Given the description of an element on the screen output the (x, y) to click on. 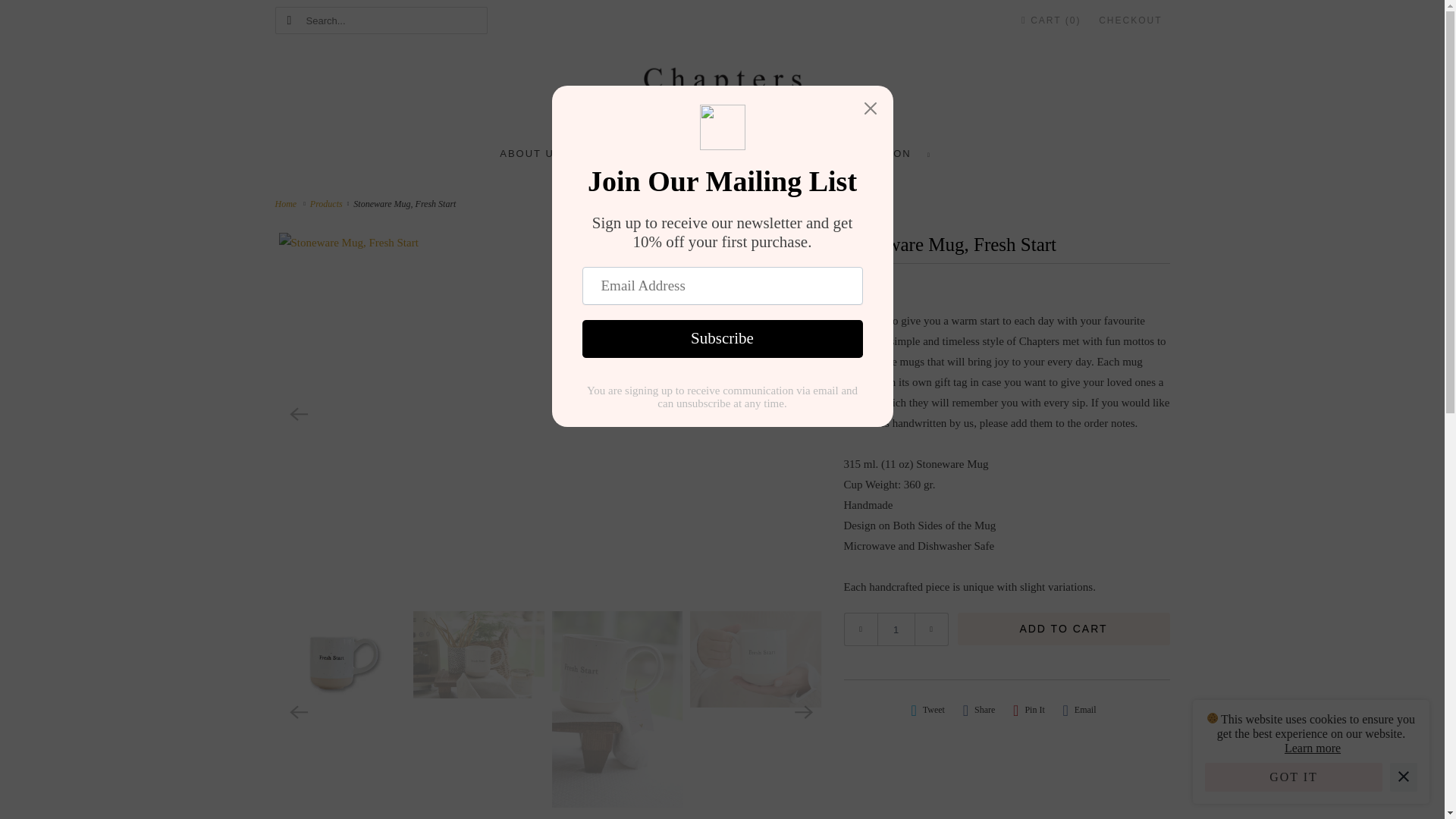
Share this on Twitter (928, 709)
Share this on Facebook (979, 709)
Chapters (288, 204)
Chapters (722, 91)
Products (327, 204)
CHECKOUT (1130, 20)
Share this on Pinterest (1029, 709)
1 (895, 629)
ABOUT US (530, 153)
Email this to a friend (1079, 709)
